Given the description of an element on the screen output the (x, y) to click on. 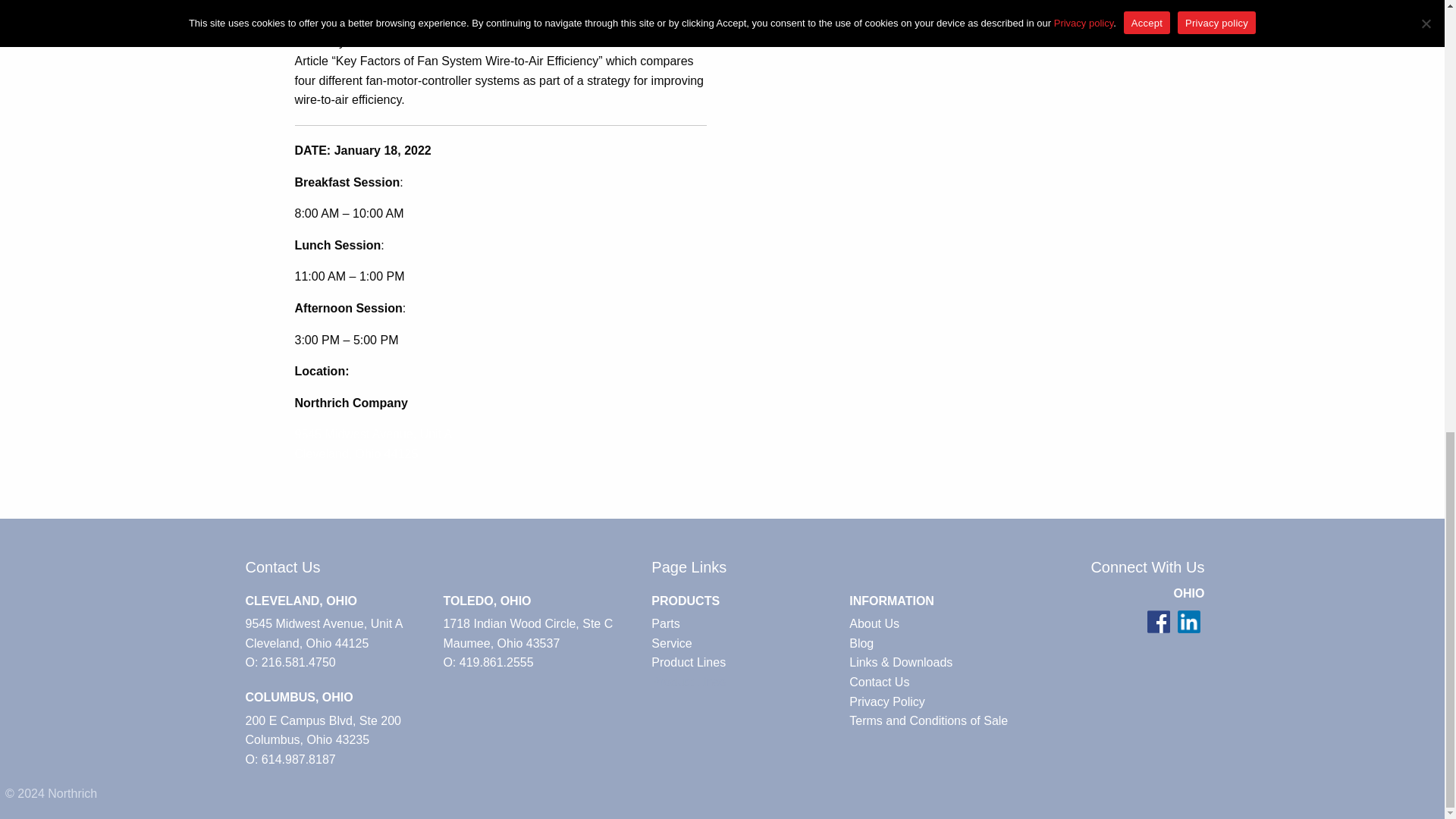
Service (744, 643)
Privacy Policy (942, 701)
Parts (744, 623)
Product Lines (744, 662)
Contact Us (942, 682)
Blog (942, 643)
Terms and Conditions of Sale (942, 721)
About Us (942, 623)
